Given the description of an element on the screen output the (x, y) to click on. 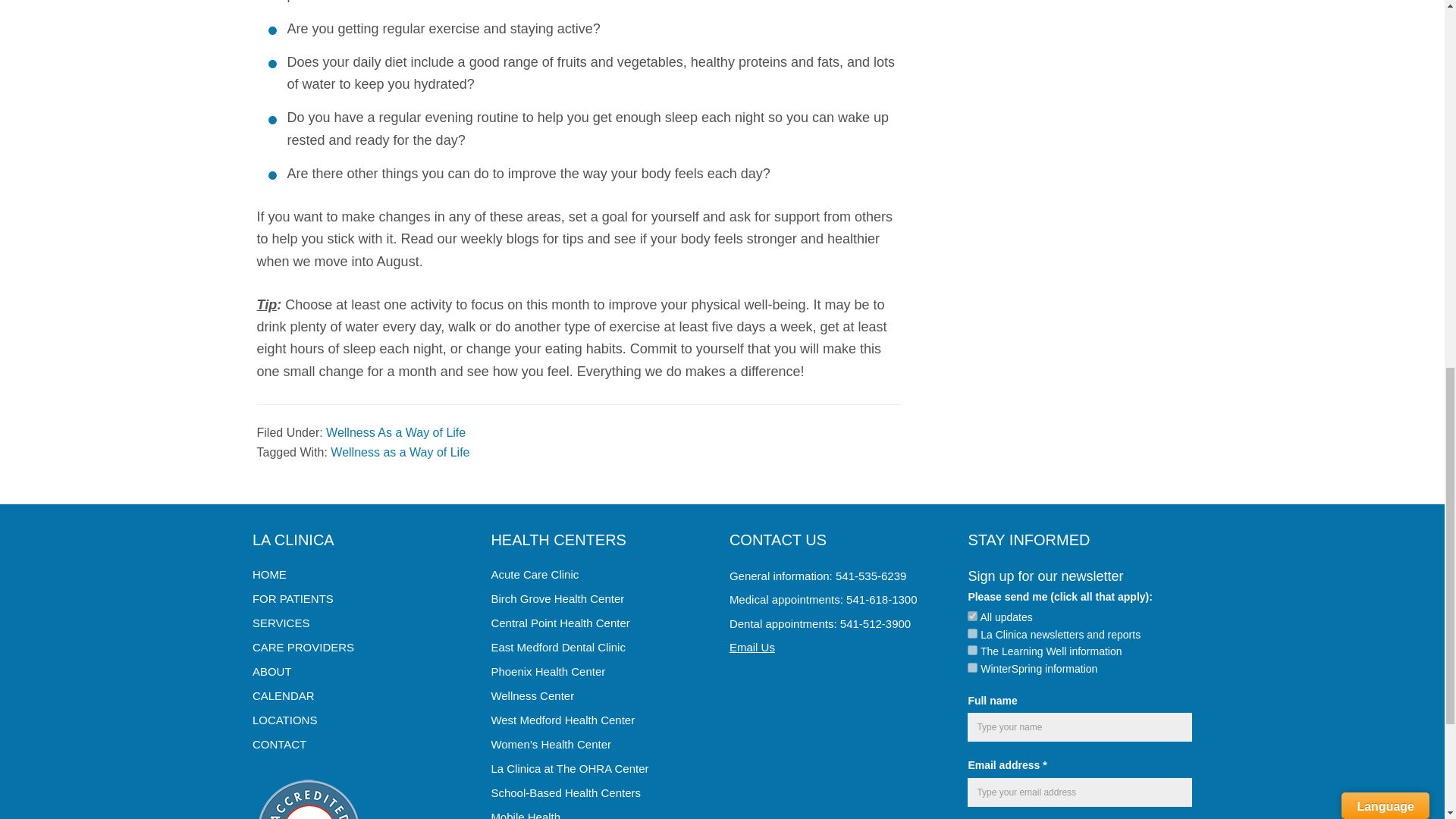
All updates (972, 615)
The Learning Well information (972, 650)
La Clinica newsletters and reports (972, 633)
WinterSpring information (972, 667)
